Given the description of an element on the screen output the (x, y) to click on. 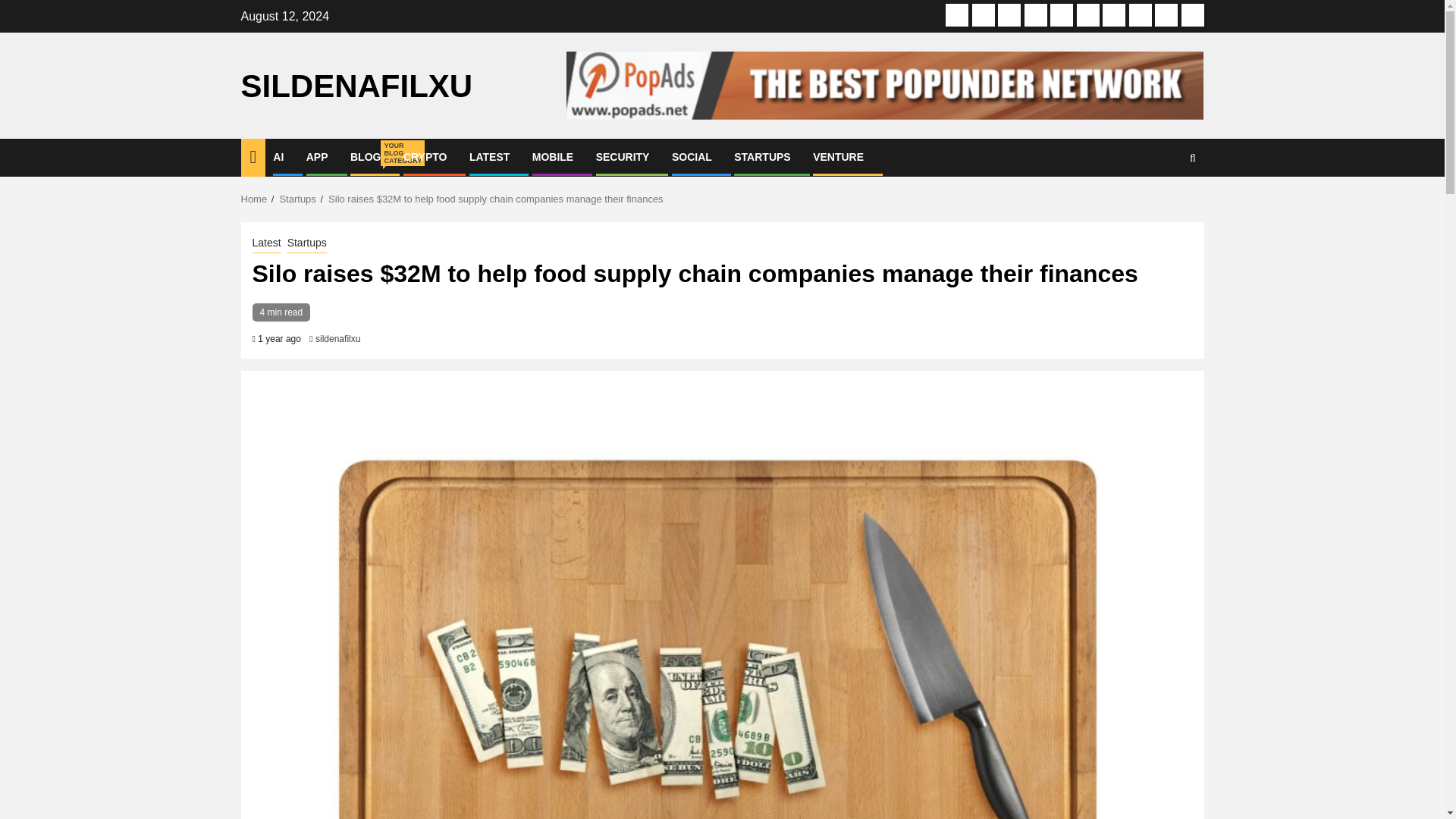
crypto (1035, 15)
Mobile (1088, 15)
Search (1163, 203)
Venture (1192, 15)
Home (254, 198)
MOBILE (552, 156)
SOCIAL (691, 156)
Blog (1008, 15)
Latest (1061, 15)
Latest (266, 244)
